Given the description of an element on the screen output the (x, y) to click on. 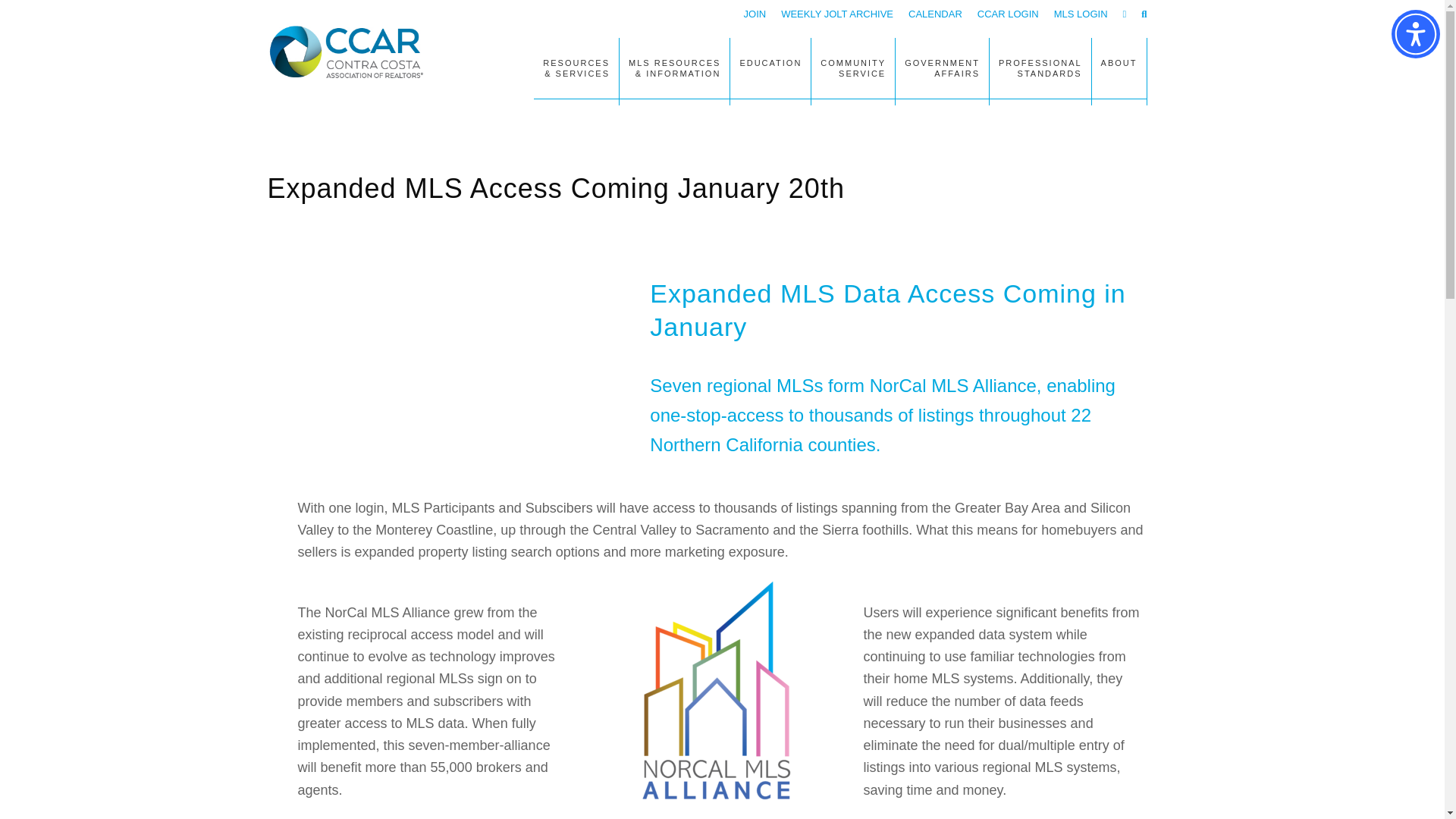
MLS LOGIN (1081, 13)
Accessibility Menu (1415, 33)
CCARToday - Contra Costa Association of REALTORS (349, 51)
WEEKLY JOLT ARCHIVE (836, 13)
CCAR LOGIN (1007, 13)
CALENDAR (935, 13)
JOIN (755, 13)
